Given the description of an element on the screen output the (x, y) to click on. 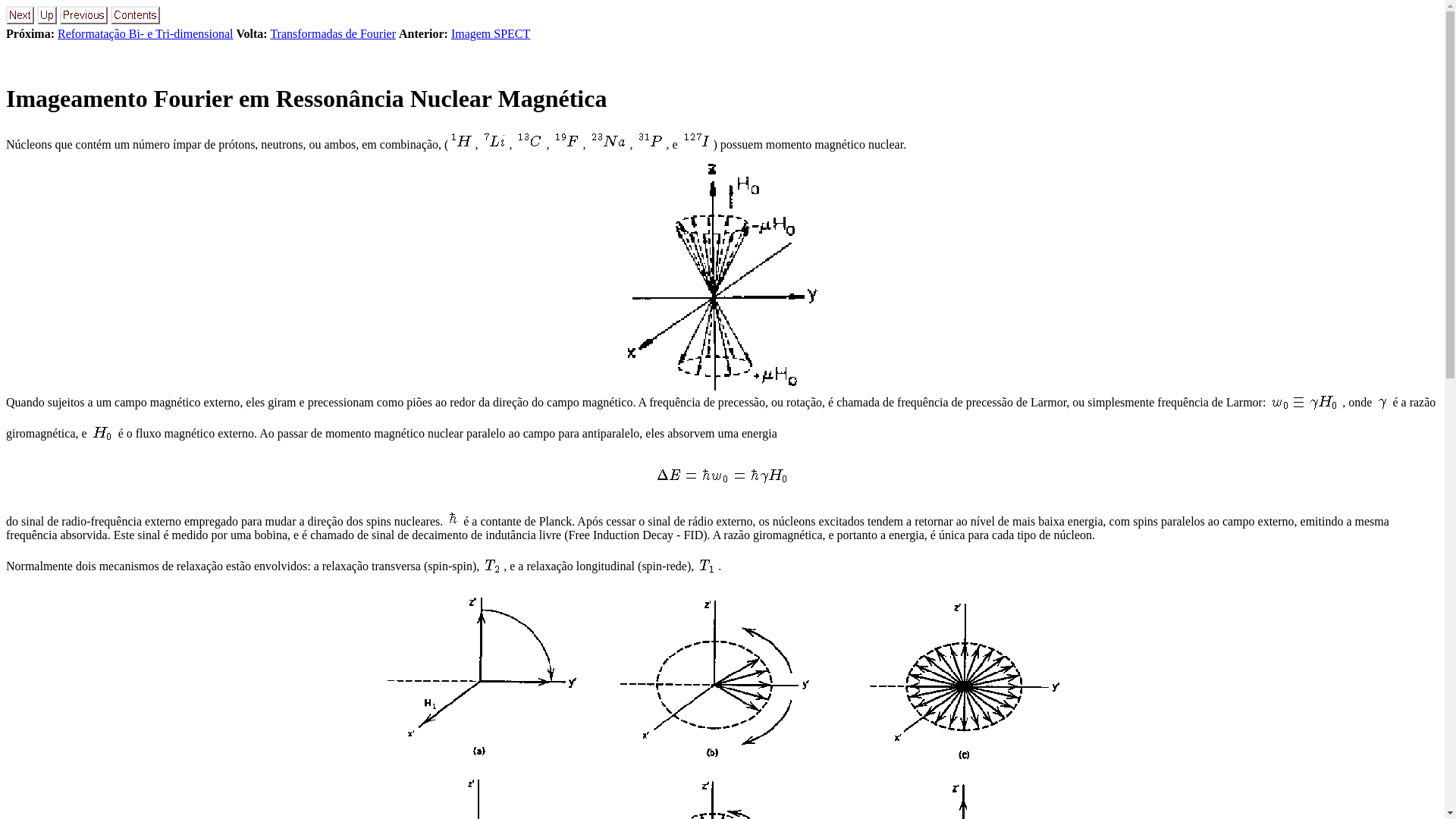
Imagem SPECT Element type: text (490, 33)
Transformadas de Fourier Element type: text (332, 33)
